Given the description of an element on the screen output the (x, y) to click on. 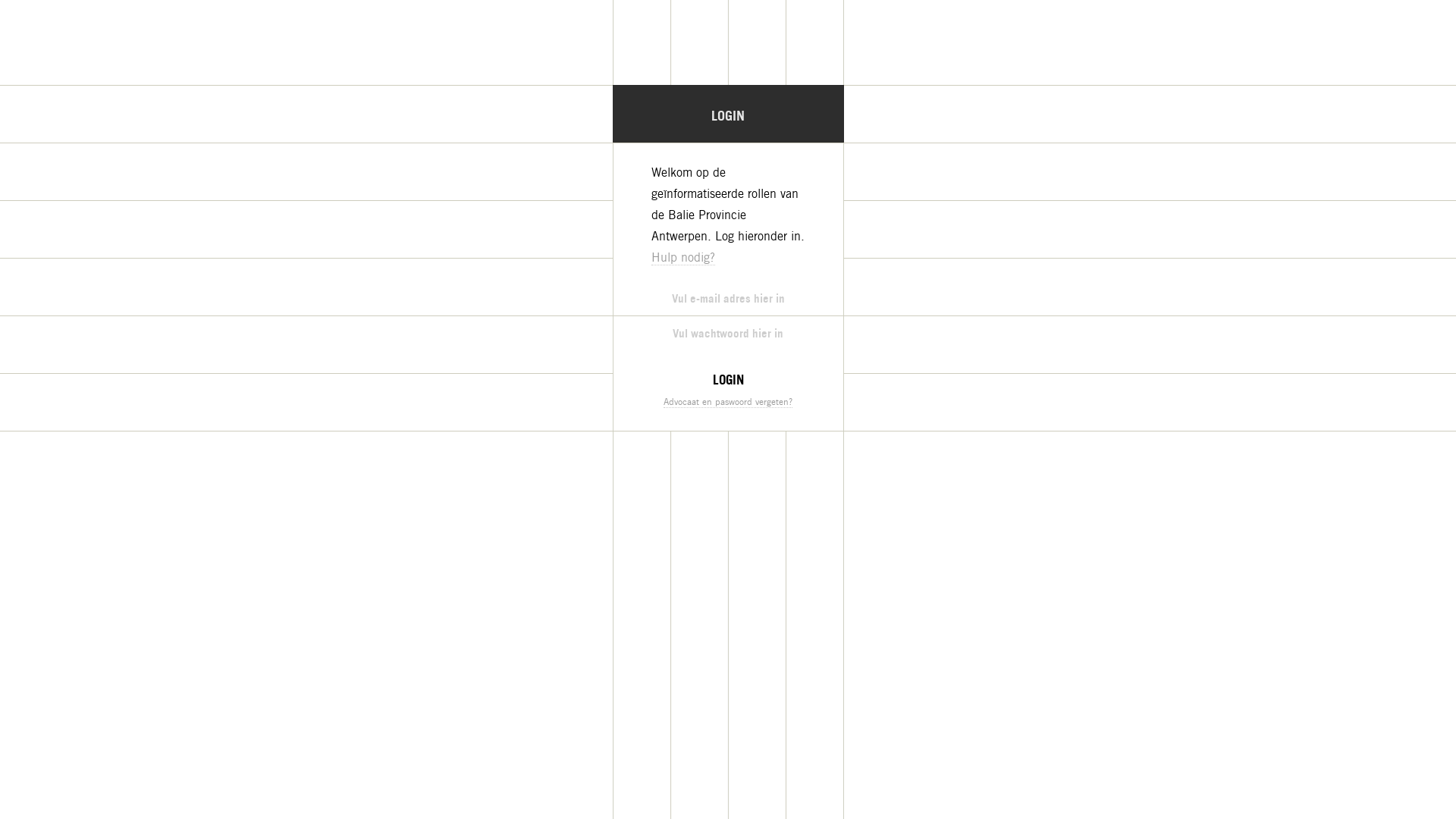
Advocaat en paswoord vergeten? Element type: text (727, 401)
Hulp nodig? Element type: text (682, 257)
Login Element type: text (727, 379)
